Given the description of an element on the screen output the (x, y) to click on. 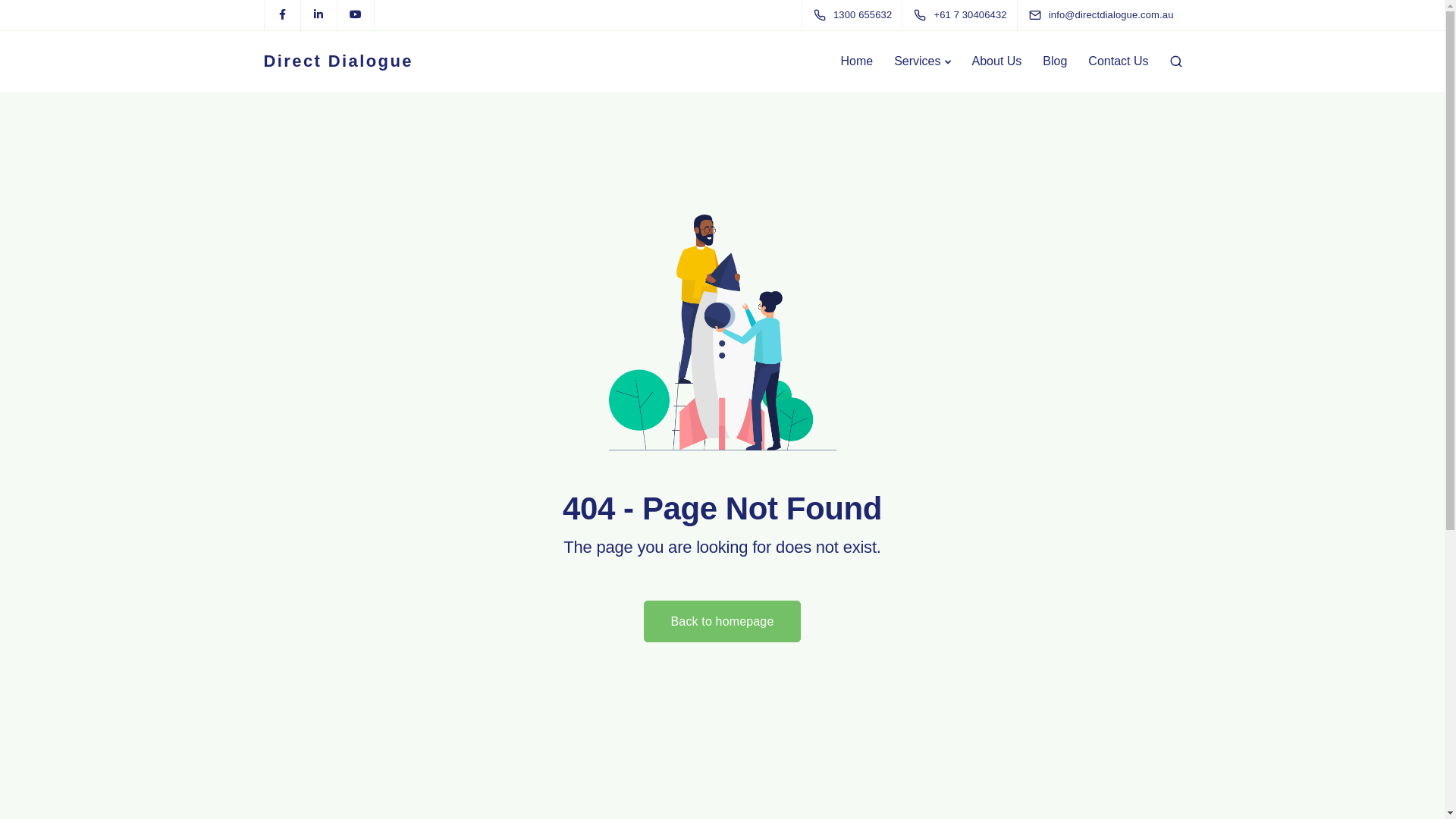
Home Element type: text (856, 61)
About Us Element type: text (996, 61)
Services Element type: text (921, 61)
Contact Us Element type: text (1117, 61)
+61 7 30406432 Element type: text (962, 15)
Direct Dialogue Element type: text (338, 61)
info@directdialogue.com.au Element type: text (1114, 14)
Back to homepage Element type: text (721, 621)
1300 655632 Element type: text (855, 15)
Blog Element type: text (1054, 61)
